Given the description of an element on the screen output the (x, y) to click on. 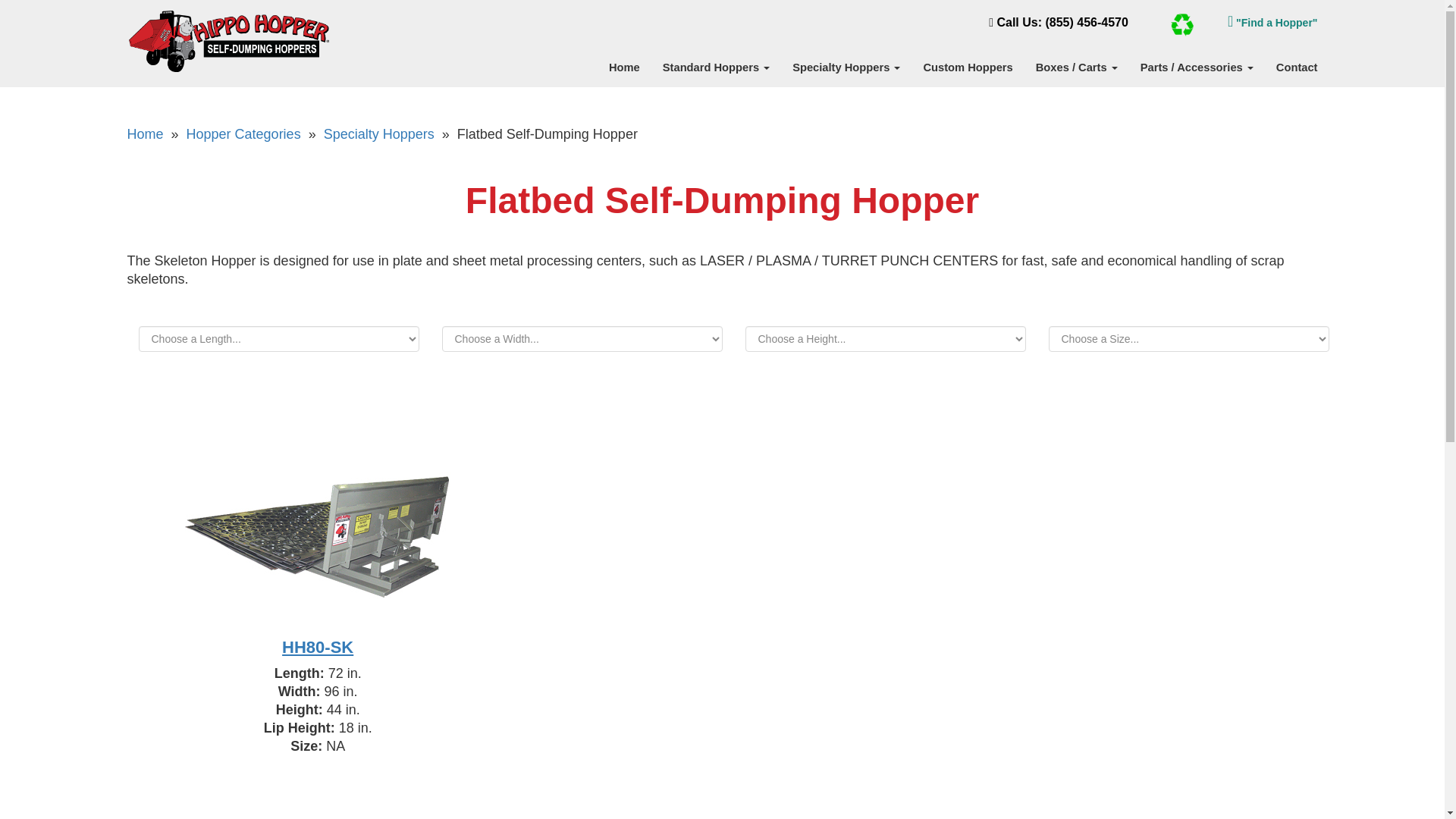
Specialty Hoppers (845, 67)
Standard Hoppers (715, 67)
Home (623, 67)
"Find a Hopper" (1272, 22)
Custom Hoppers (967, 67)
